Given the description of an element on the screen output the (x, y) to click on. 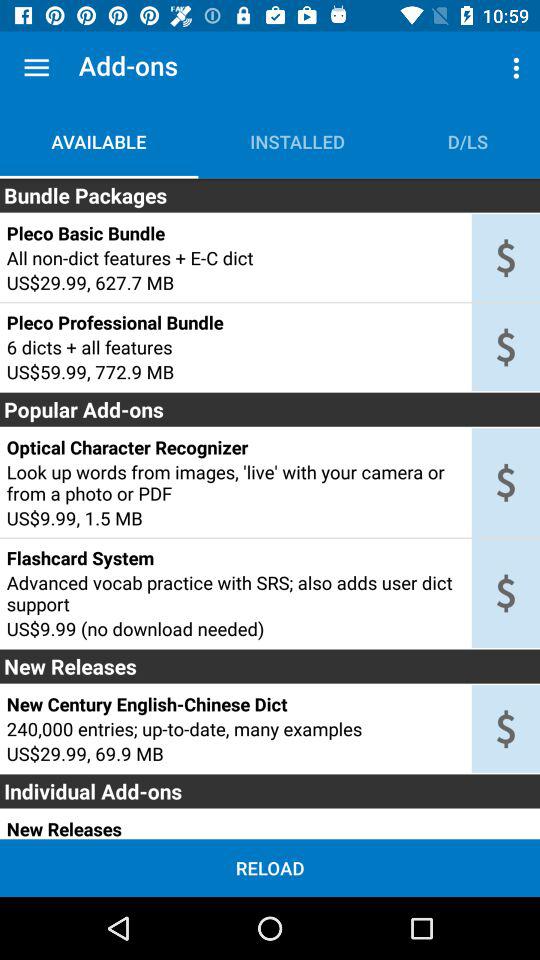
tap the icon above the look up words item (235, 447)
